Given the description of an element on the screen output the (x, y) to click on. 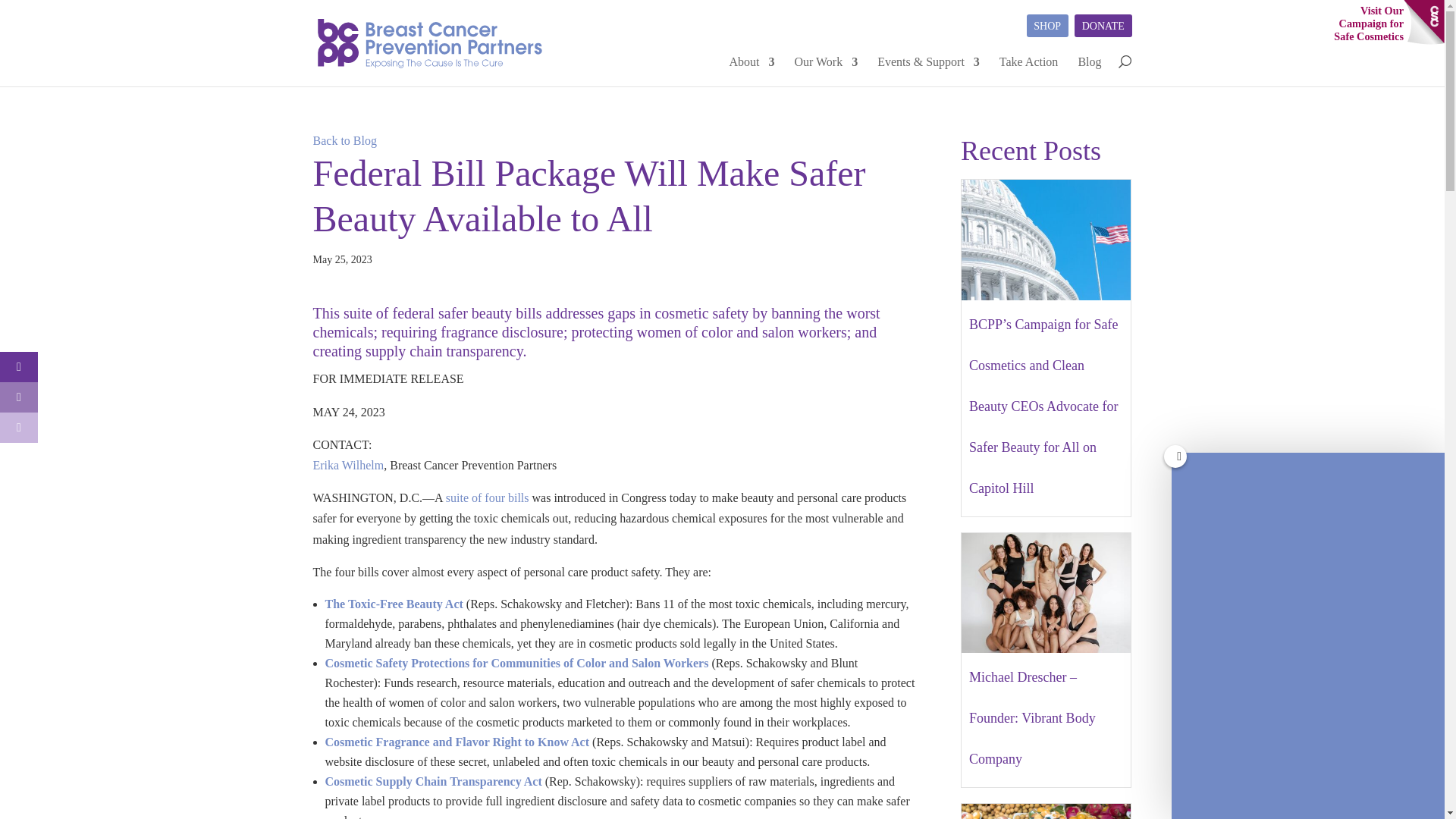
DONATE (1103, 25)
Our Work (825, 61)
Blog (1368, 23)
About (1088, 61)
SHOP (751, 61)
Take Action (1047, 25)
